Given the description of an element on the screen output the (x, y) to click on. 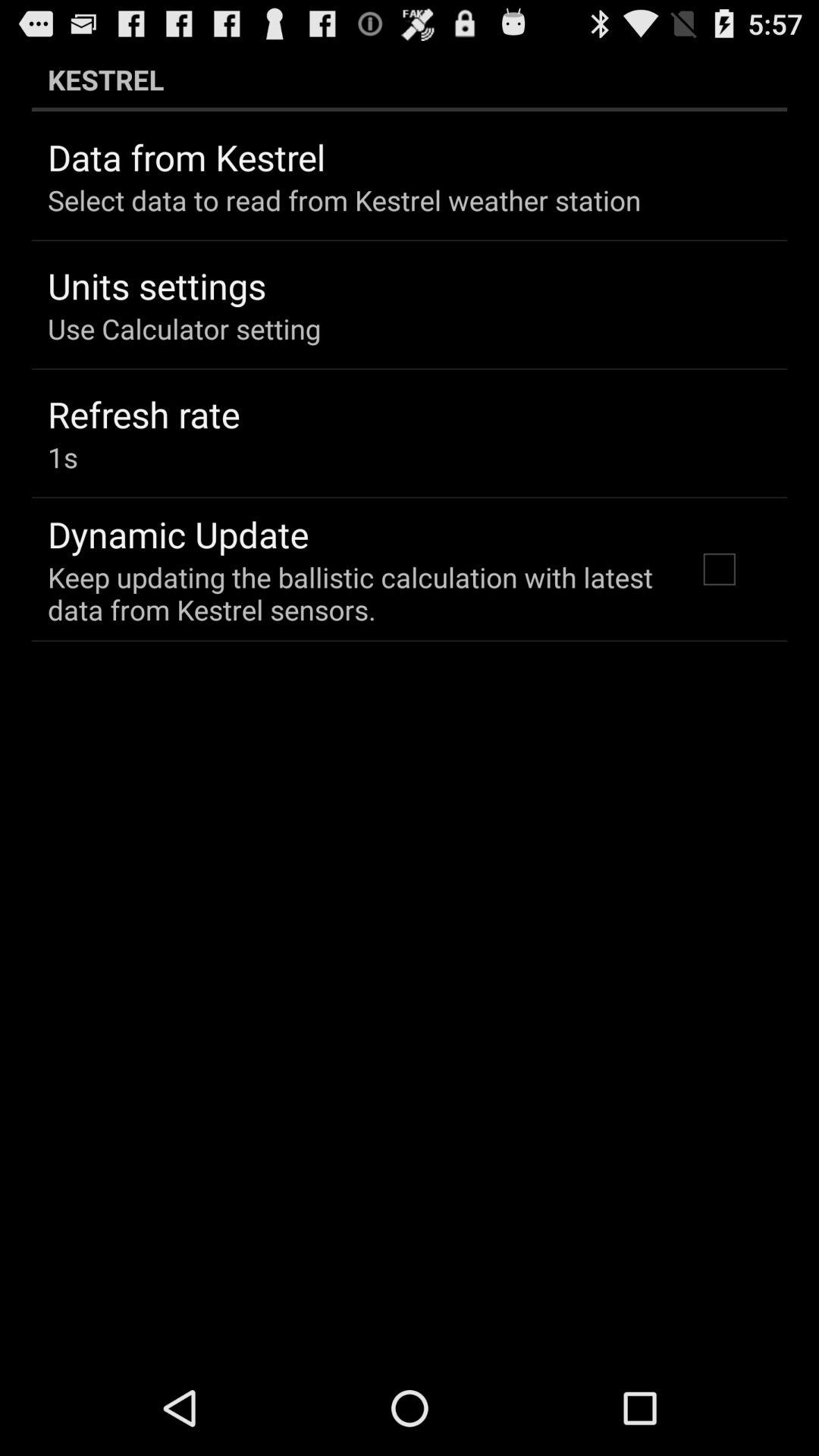
launch icon above the refresh rate (183, 328)
